Given the description of an element on the screen output the (x, y) to click on. 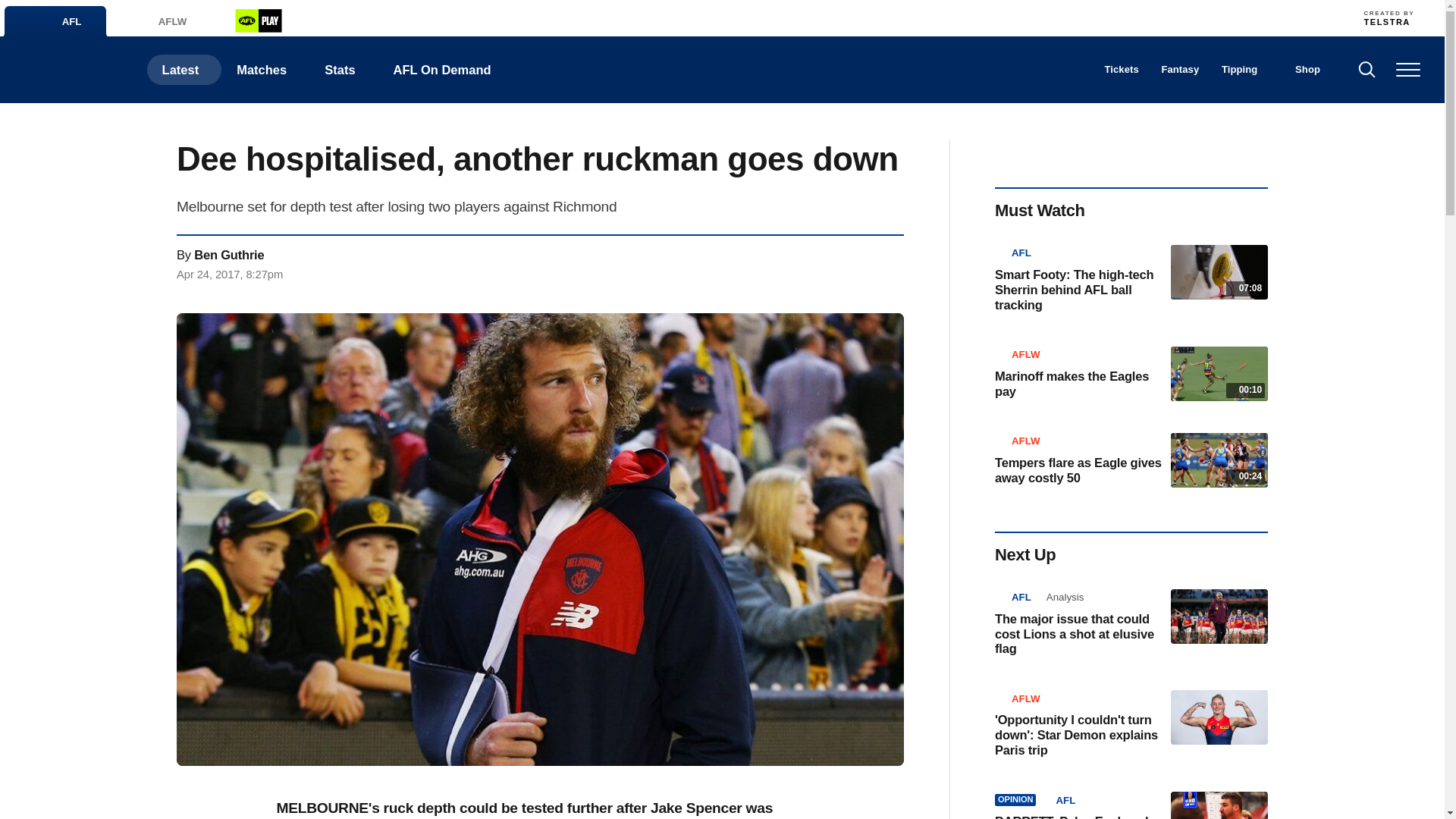
Geelong (737, 17)
North Melbourne (904, 17)
St Kilda (1004, 17)
Essendon (670, 17)
Brisbane (571, 17)
Adelaide Crows (537, 17)
Richmond (971, 17)
Latest (184, 69)
Melbourne (871, 17)
Brisbane (571, 17)
